Given the description of an element on the screen output the (x, y) to click on. 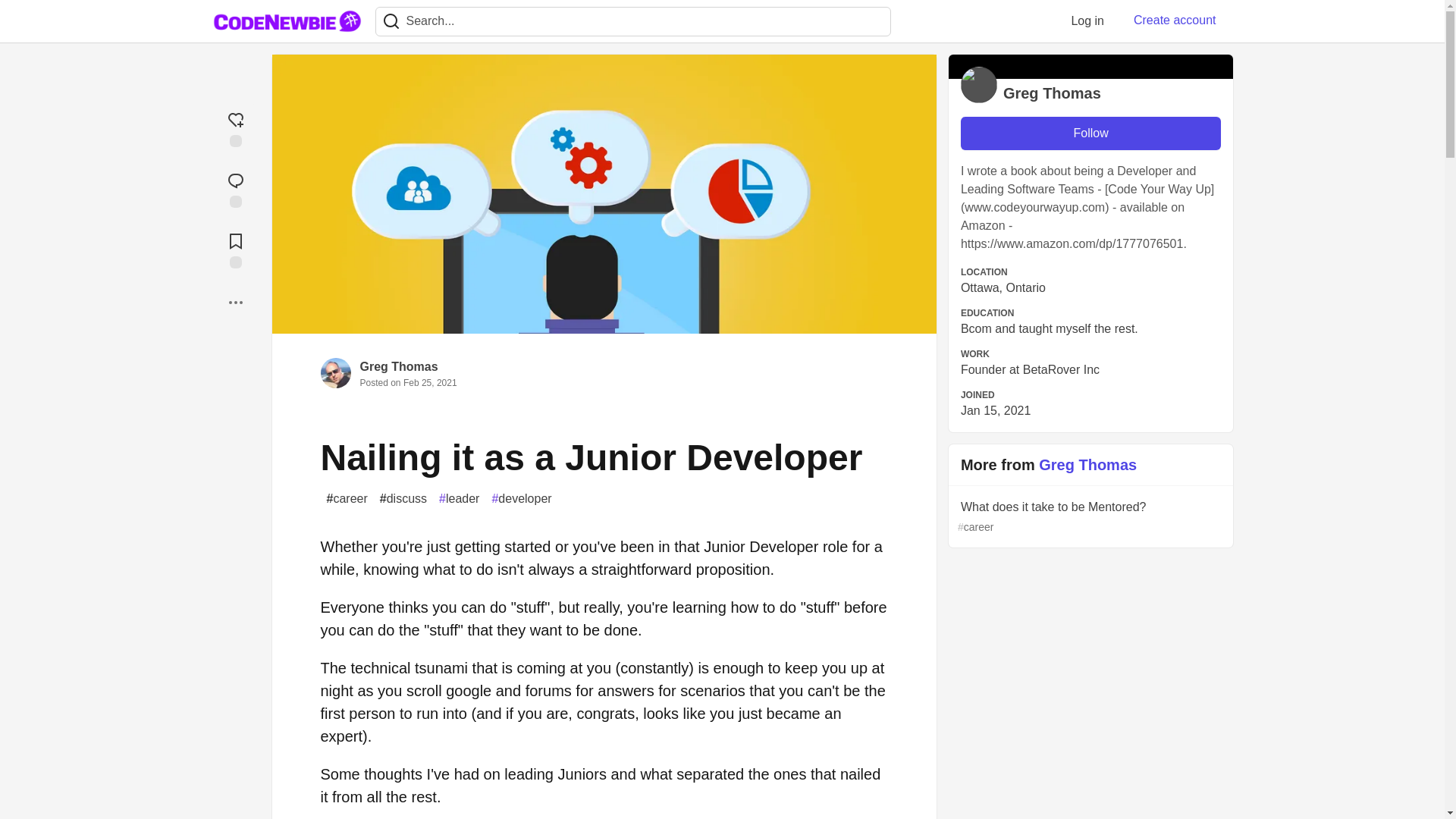
More... (234, 302)
Greg Thomas (398, 366)
Create account (1174, 20)
Thursday, February 25, 2021 at 3:33:39 AM (430, 382)
More... (234, 302)
Log in (1087, 20)
